Given the description of an element on the screen output the (x, y) to click on. 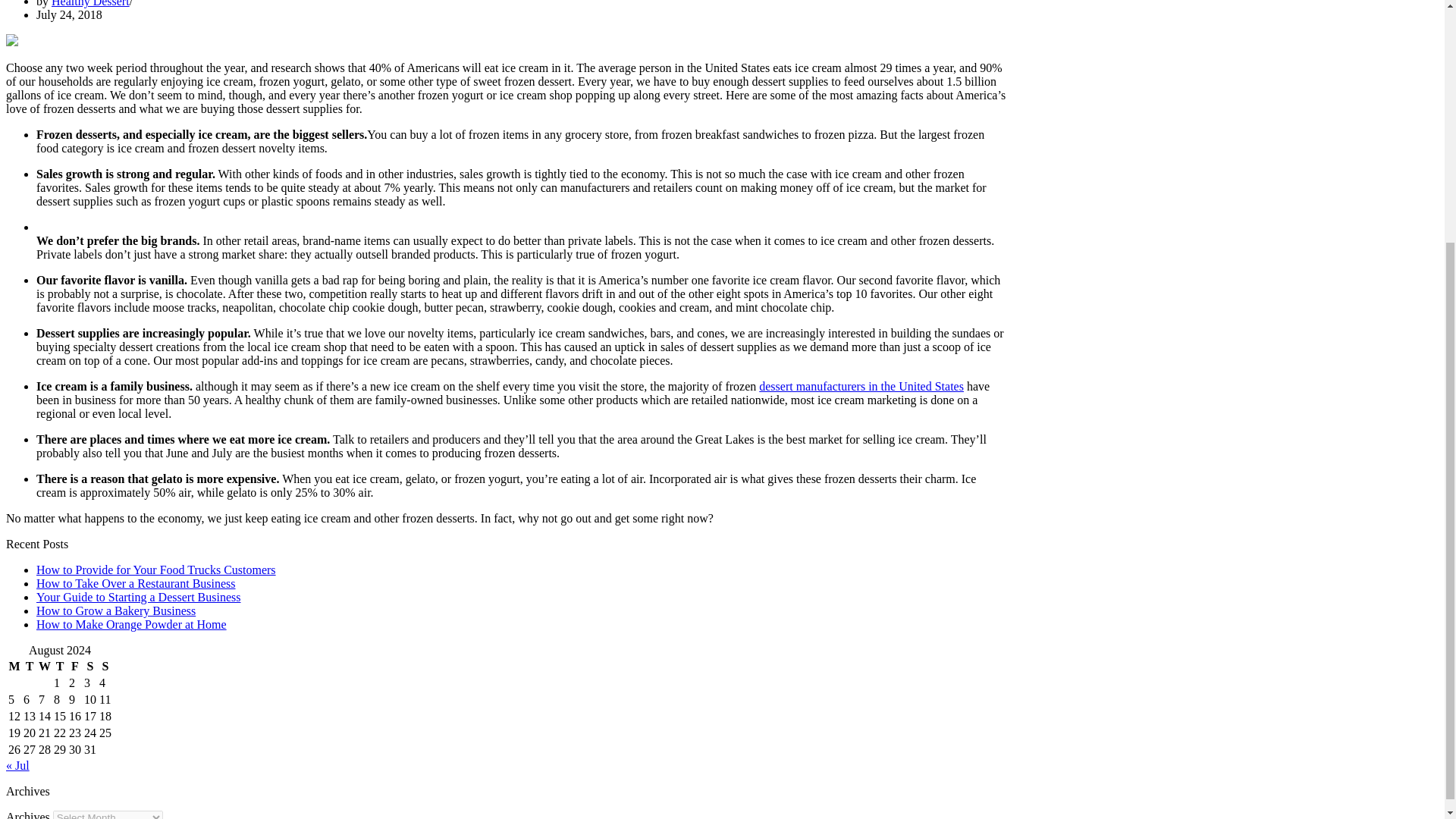
Posts by Healthy Dessert (89, 3)
dessert manufacturers in the United States (860, 386)
For more about Ice cream shop supplies (860, 386)
Healthy Dessert (89, 3)
How to Make Orange Powder at Home (131, 624)
How to Take Over a Restaurant Business (135, 583)
Tuesday (29, 666)
Your Guide to Starting a Dessert Business (138, 596)
Saturday (89, 666)
How to Grow a Bakery Business (115, 610)
